Given the description of an element on the screen output the (x, y) to click on. 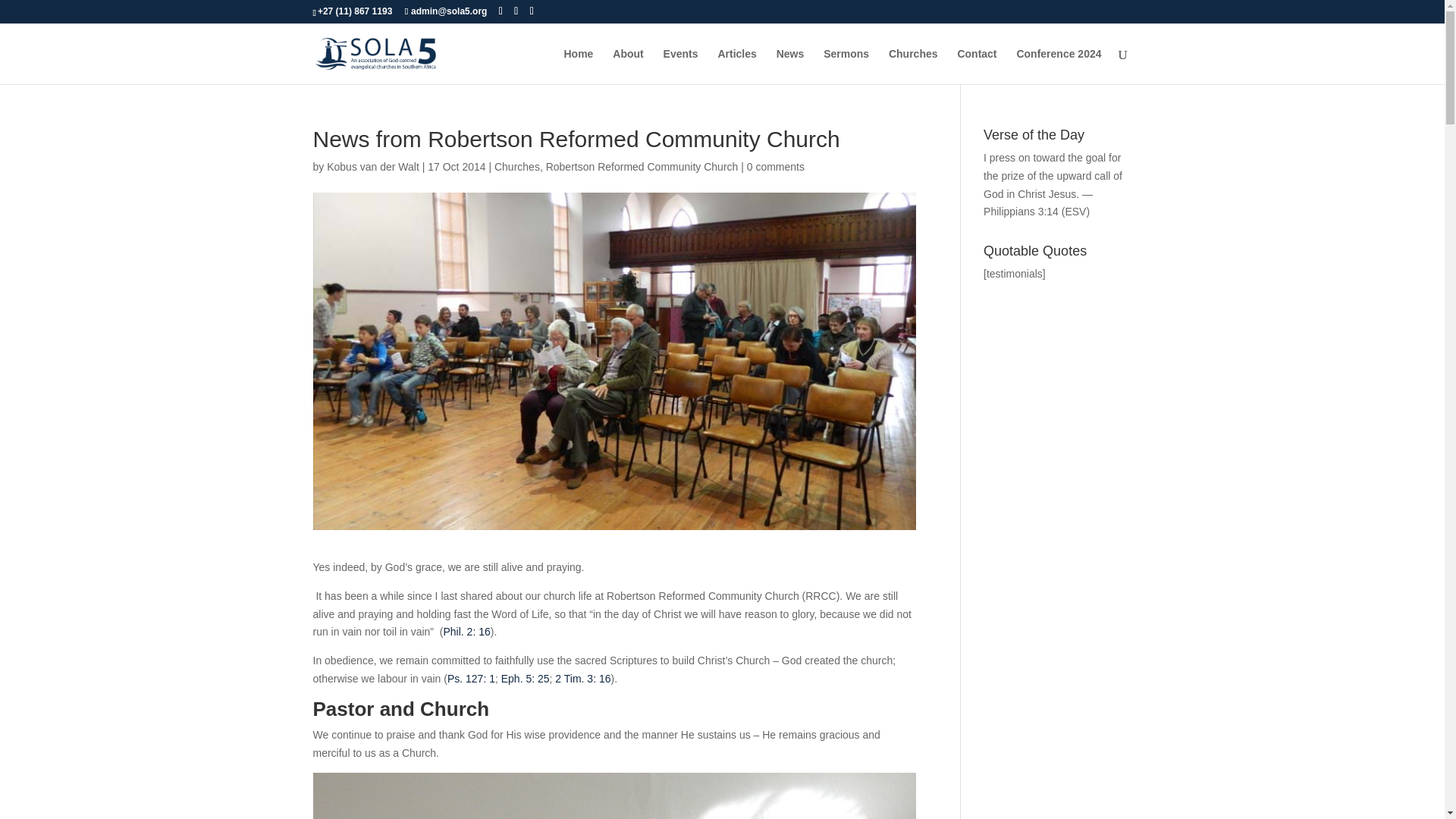
Eph. 5: 25 (525, 678)
0 comments (775, 166)
Kobus van der Walt (372, 166)
Churches (517, 166)
Sermons (846, 66)
Conference 2024 (1058, 66)
Churches (912, 66)
Robertson Reformed Community Church (642, 166)
2 Tim. 3: 16 (582, 678)
Articles (736, 66)
Phil. 2: 16 (465, 631)
Contact (975, 66)
Ps. 127: 1 (470, 678)
Posts by Kobus van der Walt (372, 166)
Events (680, 66)
